Given the description of an element on the screen output the (x, y) to click on. 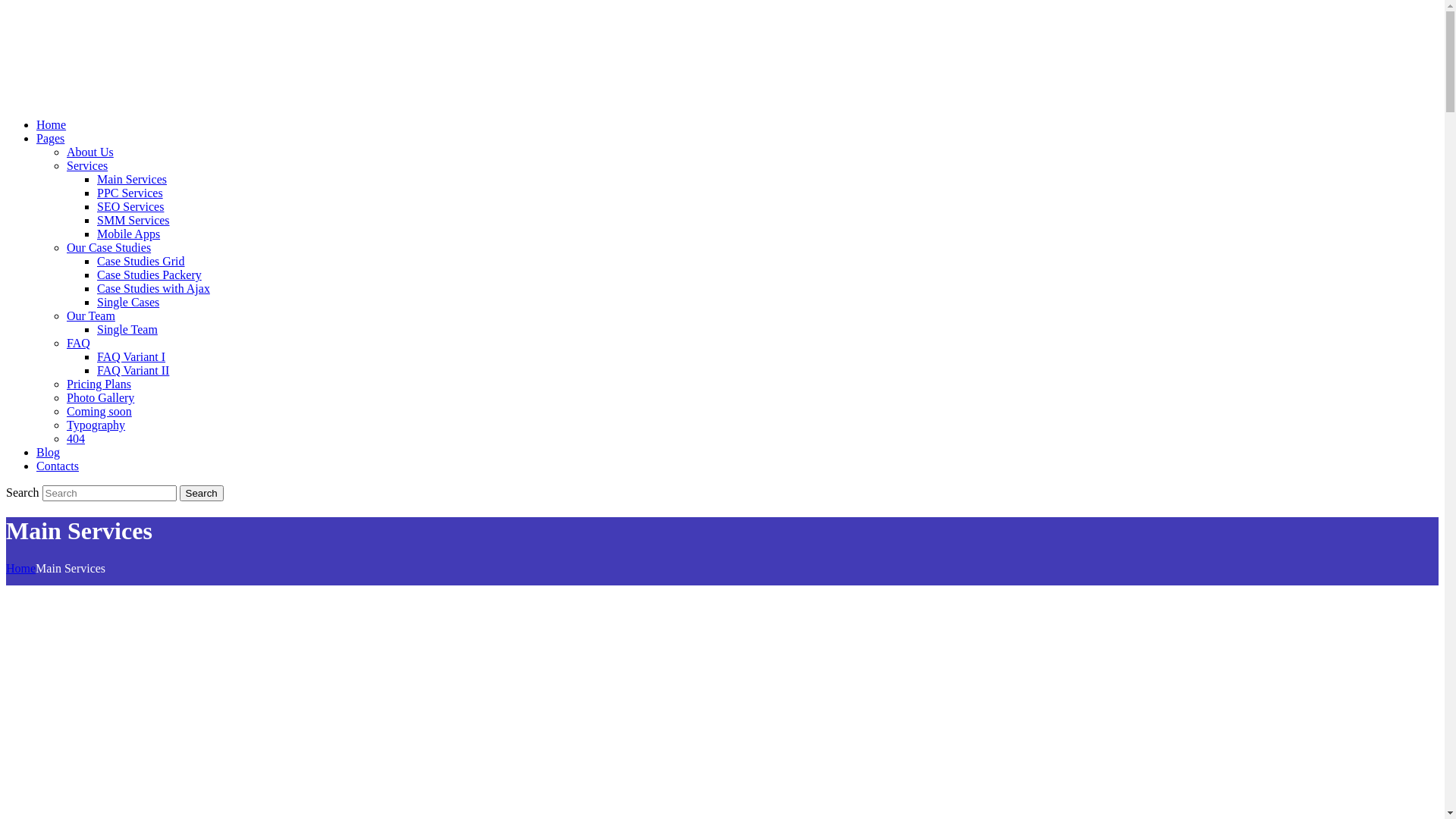
Home Element type: text (50, 124)
Photo Gallery Element type: text (100, 397)
PPC Services Element type: text (130, 192)
Case Studies Grid Element type: text (141, 260)
404 Element type: text (75, 438)
FAQ Variant II Element type: text (133, 370)
Mobile Apps Element type: text (128, 233)
FAQ Variant I Element type: text (131, 356)
Main Services Element type: text (131, 178)
Case Studies Packery Element type: text (149, 274)
Our Case Studies Element type: text (108, 247)
Services Element type: text (86, 165)
SMM Services Element type: text (133, 219)
optimization Element type: hover (54, 54)
FAQ Element type: text (78, 342)
Single Team Element type: text (127, 329)
Search Element type: text (201, 493)
Single Cases Element type: text (128, 301)
Typography Element type: text (95, 424)
Pricing Plans Element type: text (98, 383)
Blog Element type: text (47, 451)
Case Studies with Ajax Element type: text (153, 288)
About Us Element type: text (89, 151)
Coming soon Element type: text (98, 410)
Our Team Element type: text (90, 315)
SEO Services Element type: text (130, 206)
Home Element type: text (20, 567)
Contacts Element type: text (57, 465)
Pages Element type: text (50, 137)
